Given the description of an element on the screen output the (x, y) to click on. 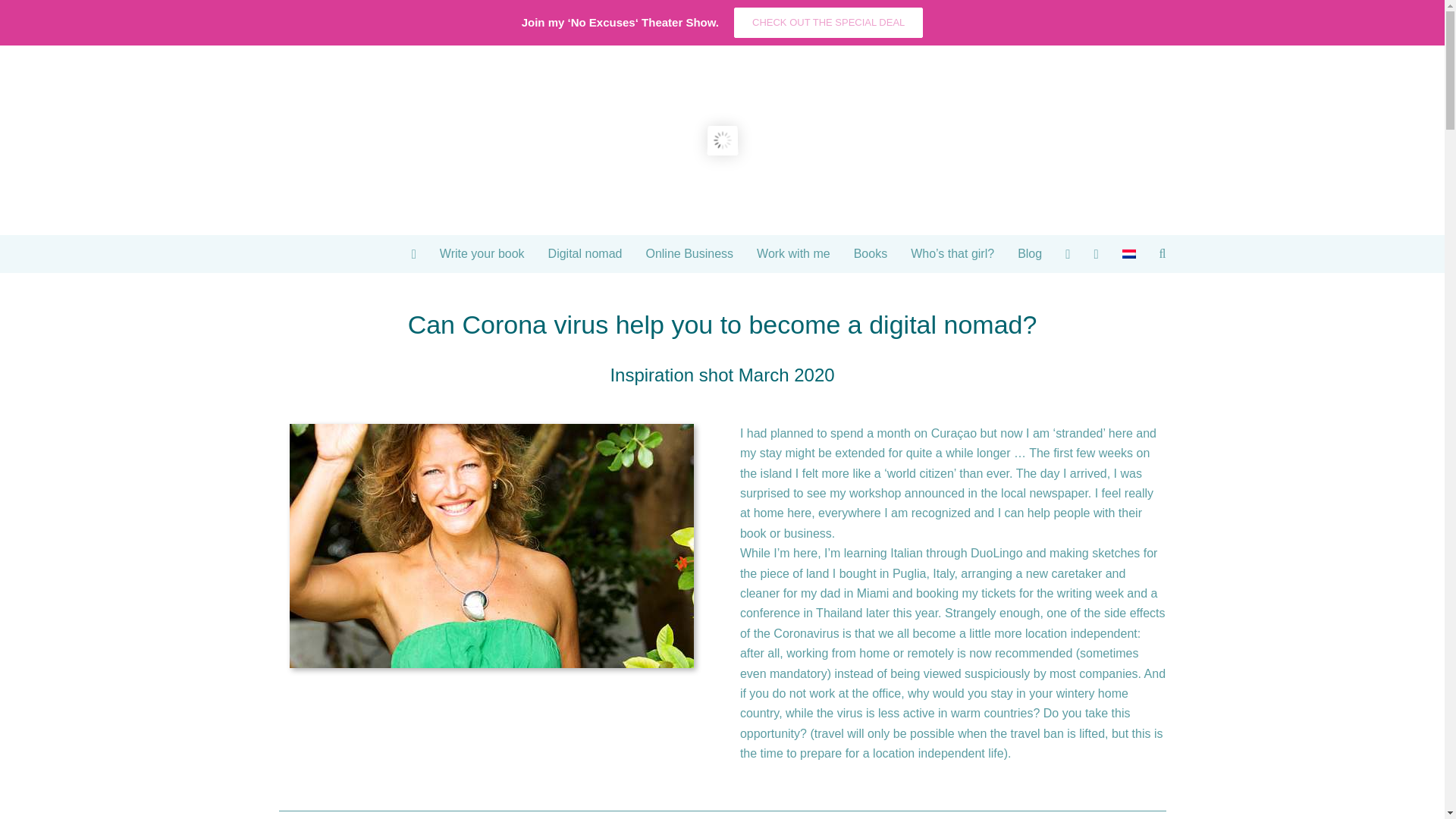
Online Business (689, 253)
CHECK OUT THE SPECIAL DEAL (828, 22)
Digital nomad (585, 253)
Write your book (481, 253)
Work with me (793, 253)
